Given the description of an element on the screen output the (x, y) to click on. 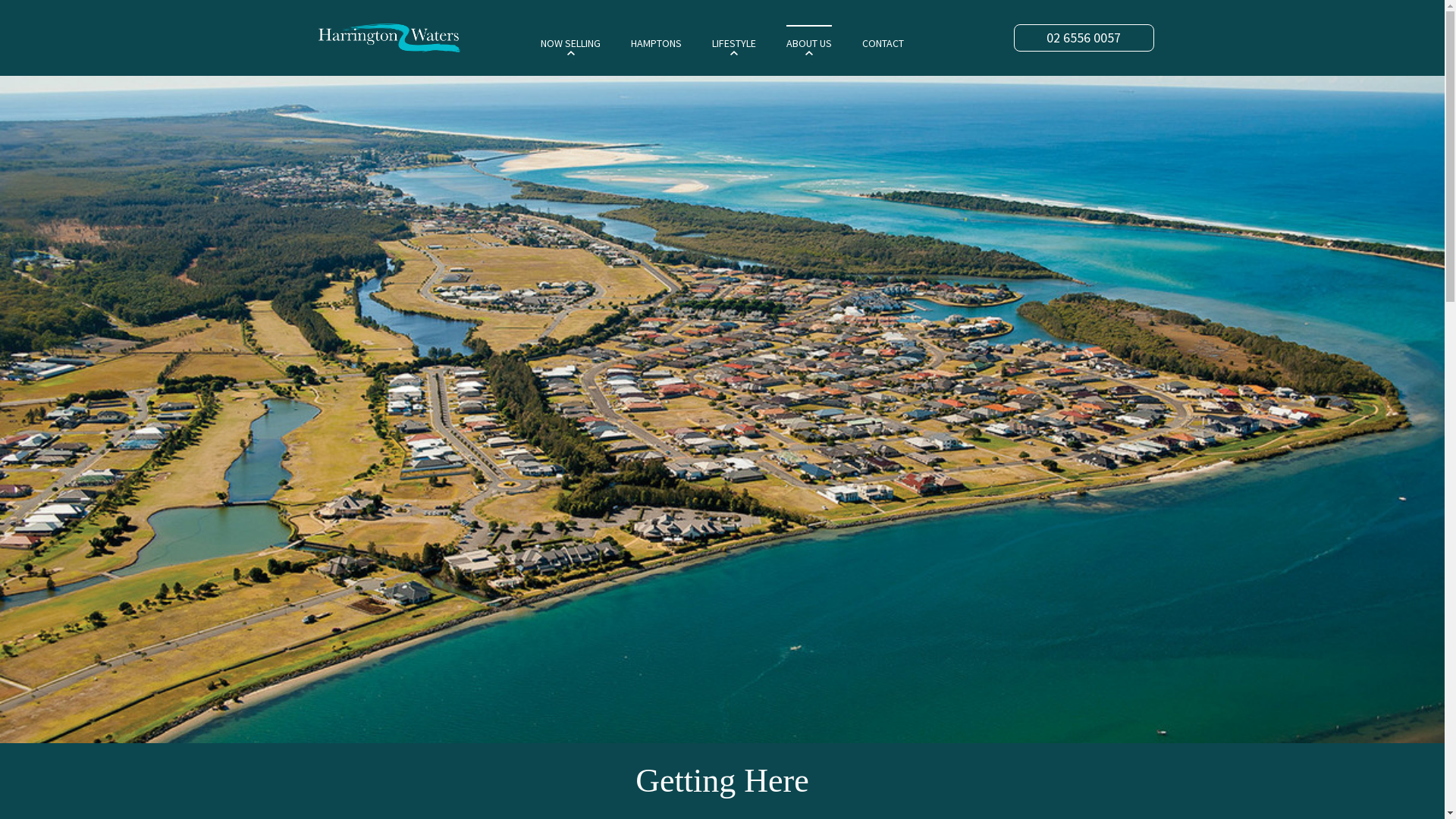
HAMPTONS Element type: text (655, 42)
CONTACT Element type: text (882, 42)
ABOUT US Element type: text (808, 42)
NOW SELLING Element type: text (570, 42)
LIFESTYLE Element type: text (734, 42)
02 6556 0057 Element type: text (1083, 37)
